Given the description of an element on the screen output the (x, y) to click on. 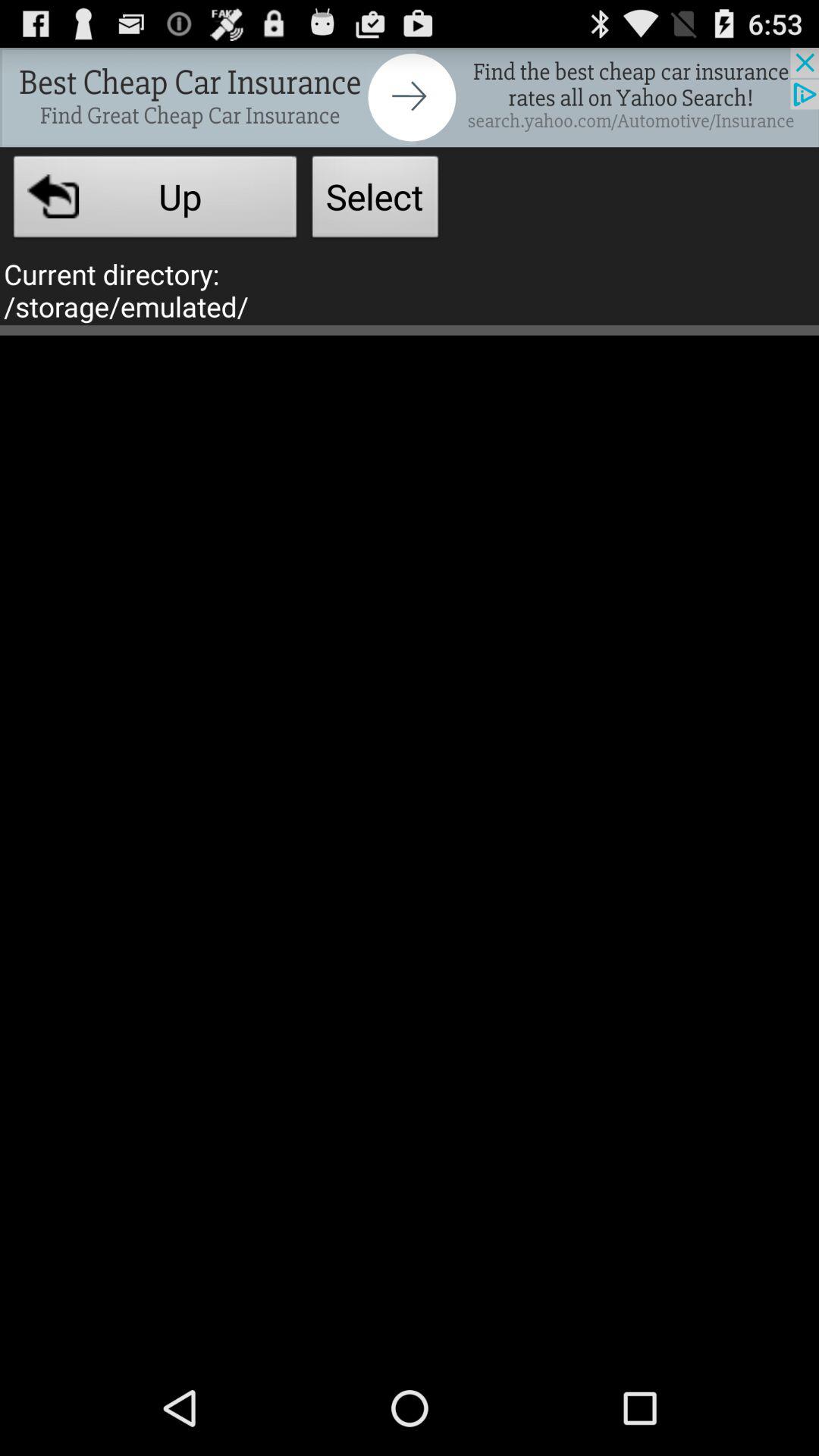
go to advertisement (409, 97)
